Given the description of an element on the screen output the (x, y) to click on. 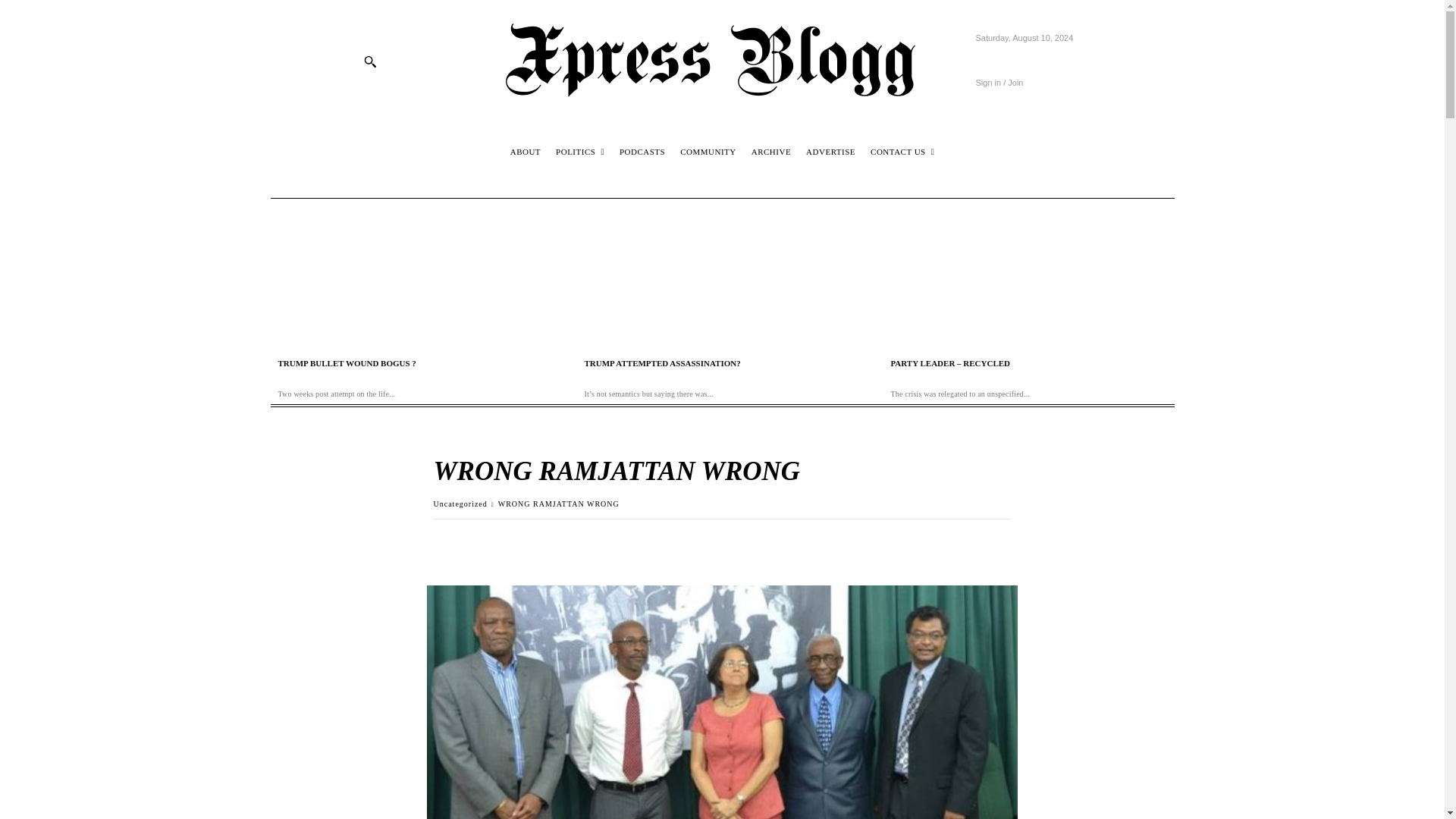
Xpress Blogg logo (722, 60)
ABOUT (525, 151)
COMMUNITY (708, 151)
POLITICS (579, 151)
ADVERTISE (830, 151)
TRUMP ATTEMPTED ASSASSINATION? (721, 275)
PODCASTS (641, 151)
TRUMP BULLET WOUND BOGUS ? (414, 275)
TRUMP BULLET WOUND BOGUS ? (346, 362)
ARCHIVE (771, 151)
